Given the description of an element on the screen output the (x, y) to click on. 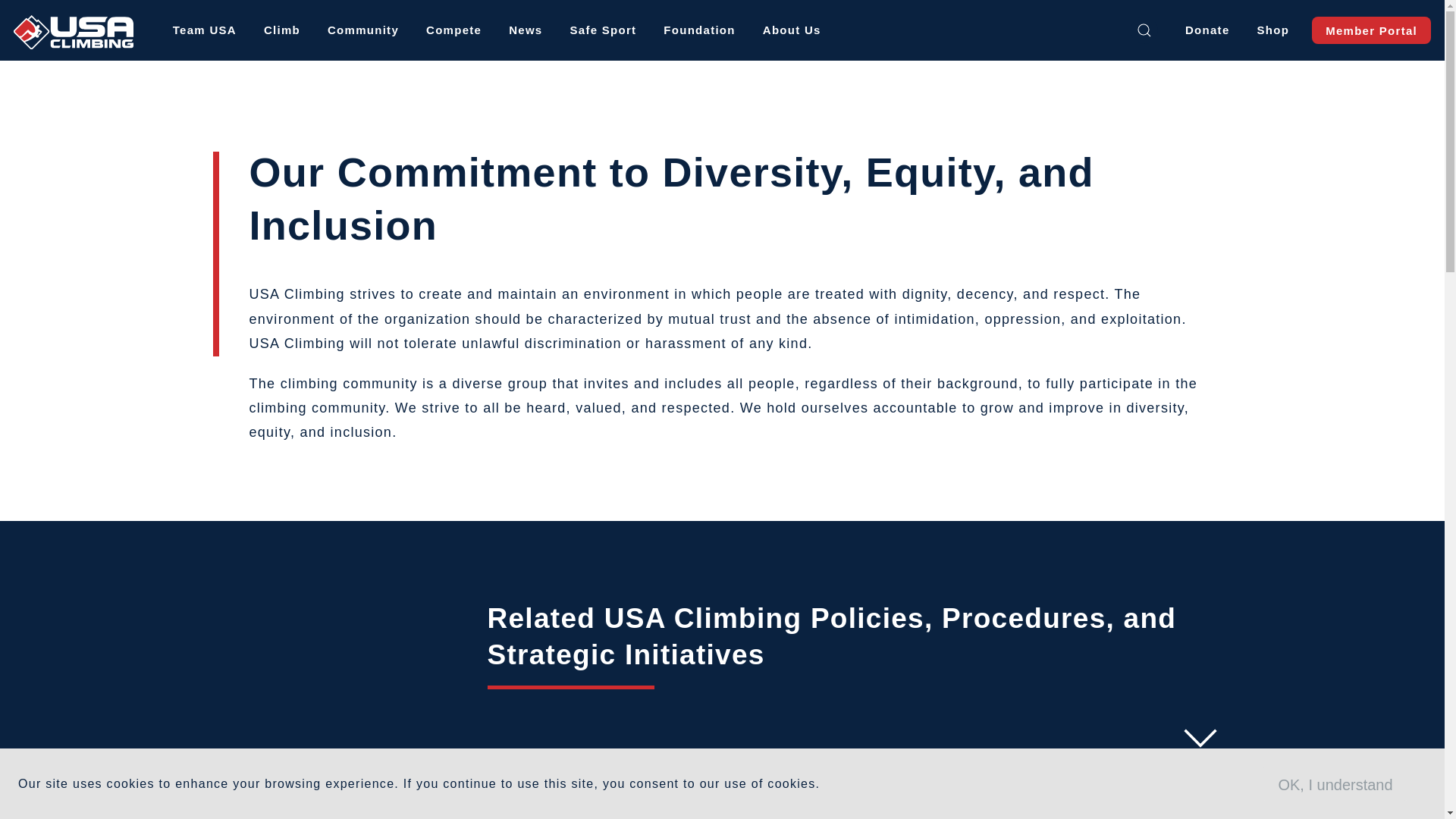
About Us (791, 30)
News (525, 30)
Community (363, 30)
Safe Sport (602, 30)
Compete (453, 30)
Climb (282, 30)
Team USA (204, 30)
Foundation (698, 30)
